Given the description of an element on the screen output the (x, y) to click on. 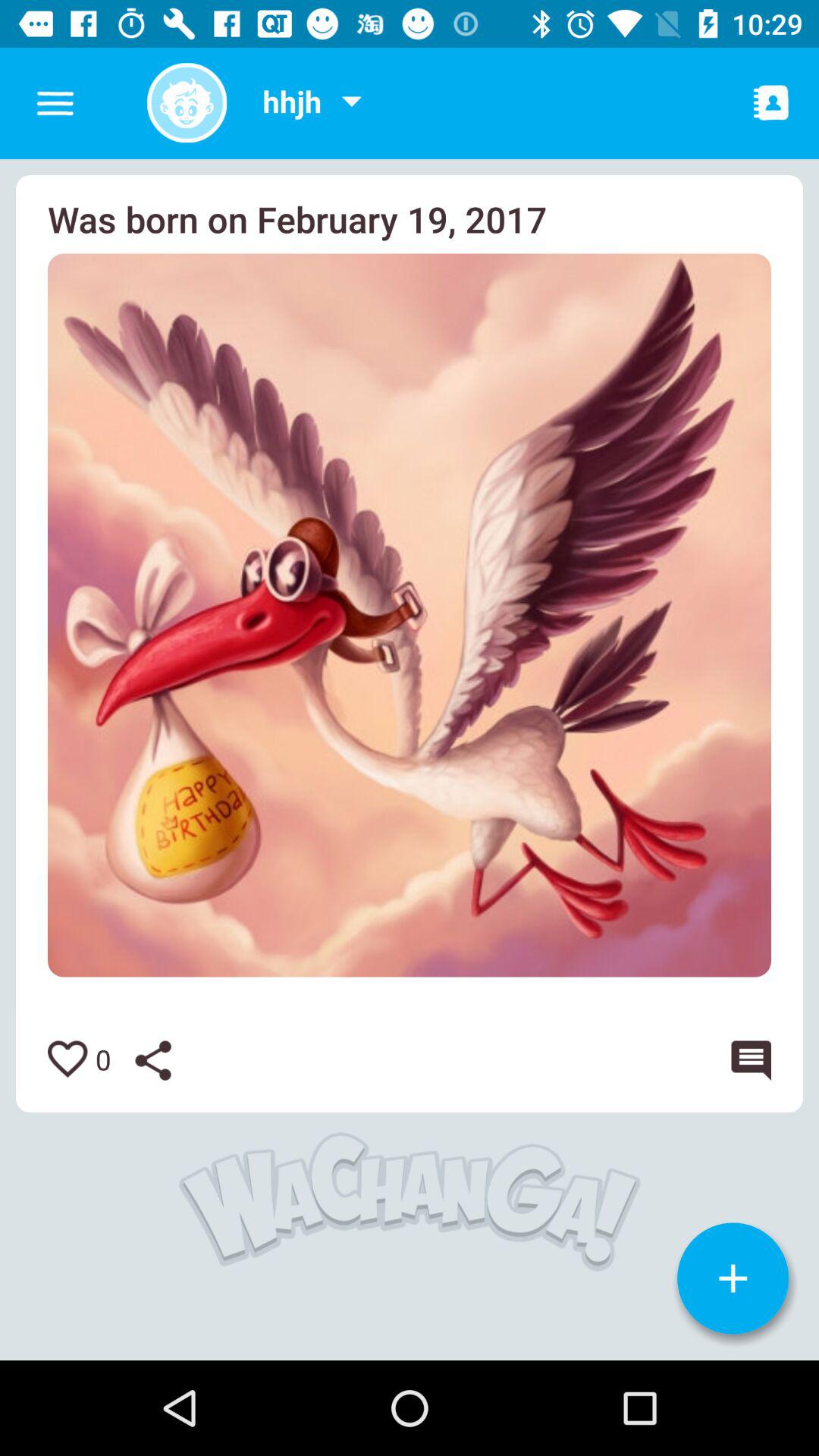
view or leave comment (747, 1060)
